Given the description of an element on the screen output the (x, y) to click on. 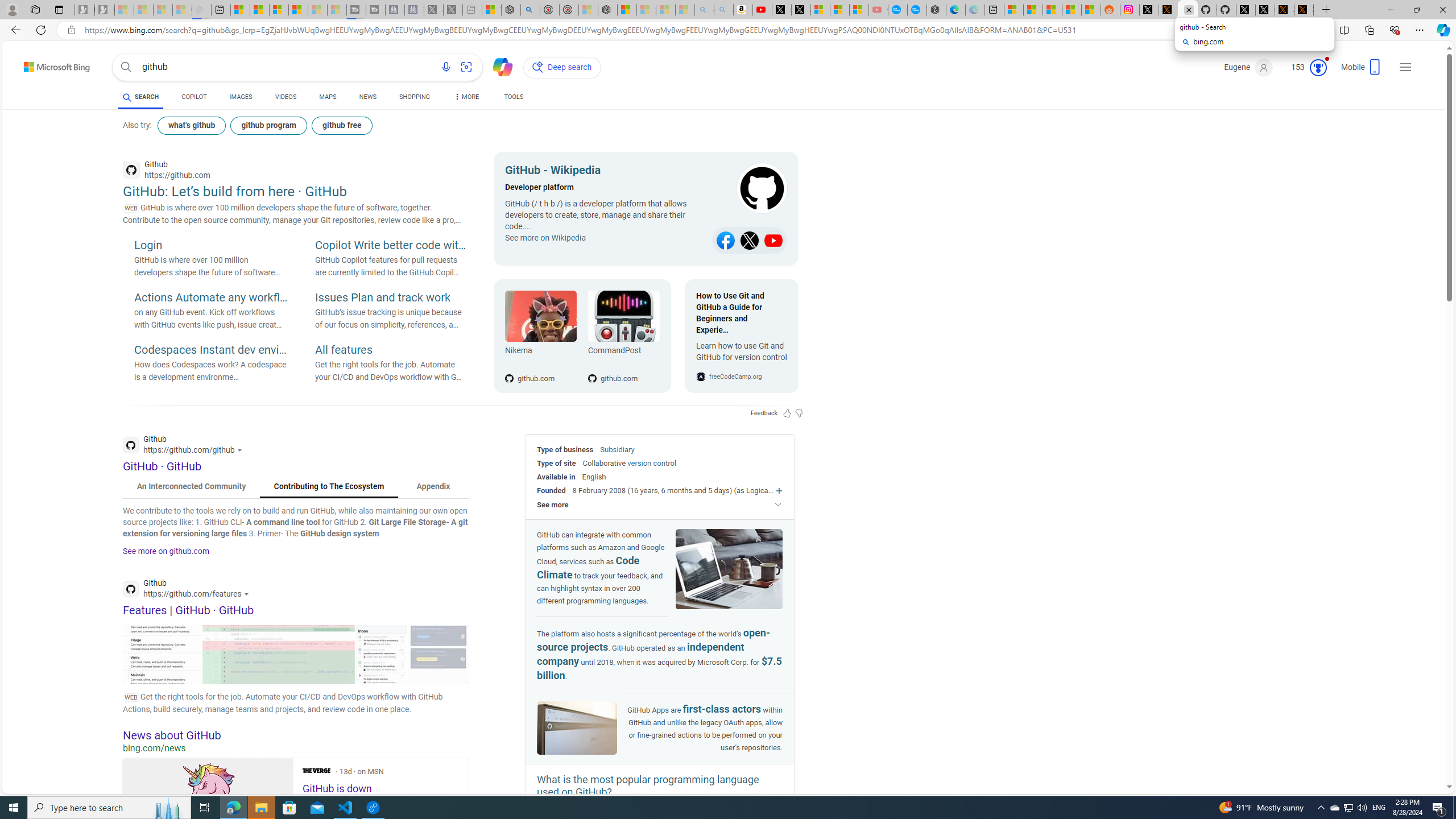
SEARCH (140, 96)
Chat (497, 65)
GitHub (@github) / X (1264, 9)
Chat (497, 65)
Codespaces Instant dev environments (210, 350)
github.com (623, 359)
Settings and more (Alt+F) (1419, 29)
Close tab (1188, 9)
Image of GitHub (577, 728)
App bar (728, 29)
Type of site (556, 462)
Founded (551, 490)
